Given the description of an element on the screen output the (x, y) to click on. 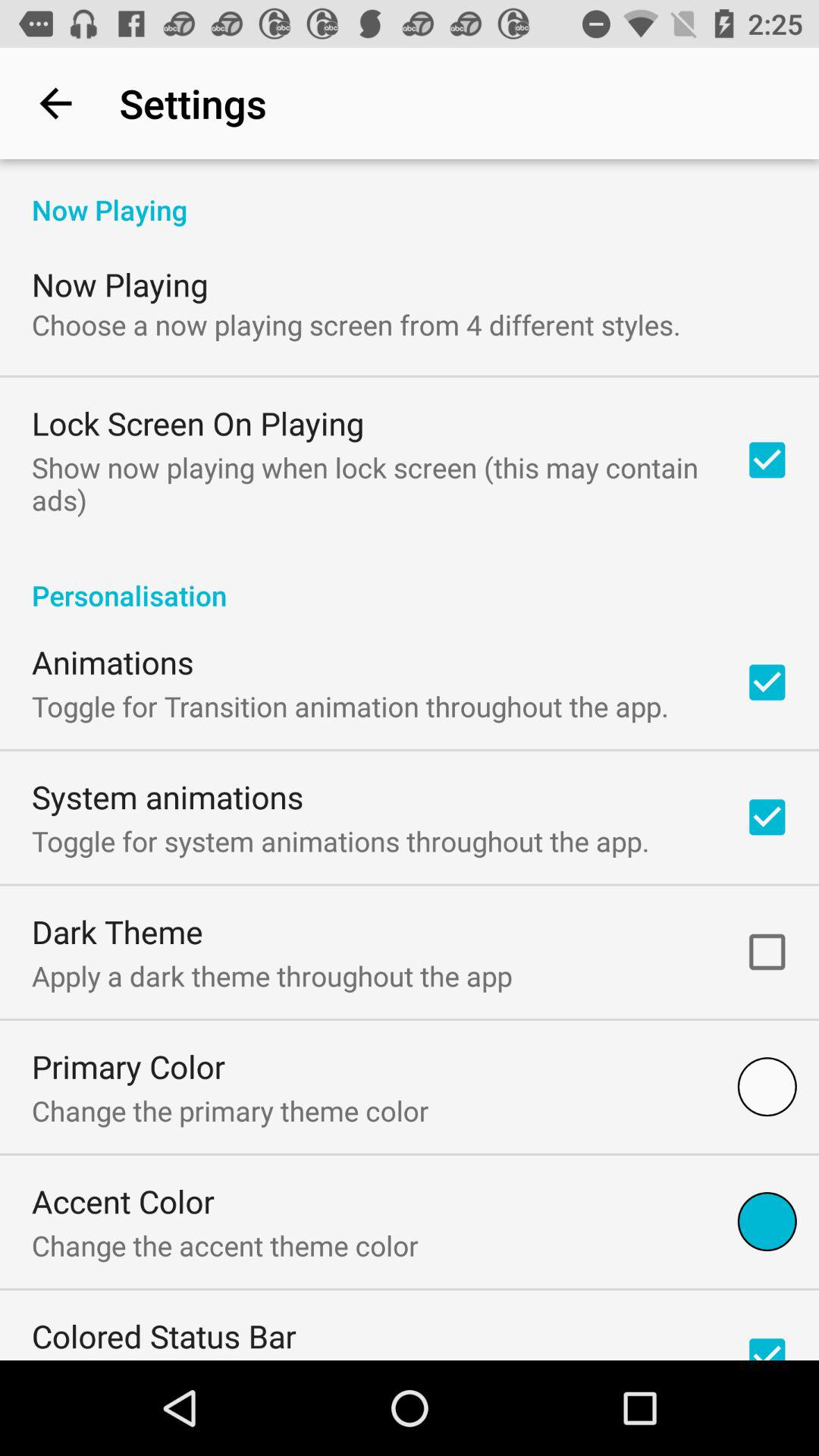
jump to choose a now icon (355, 324)
